Given the description of an element on the screen output the (x, y) to click on. 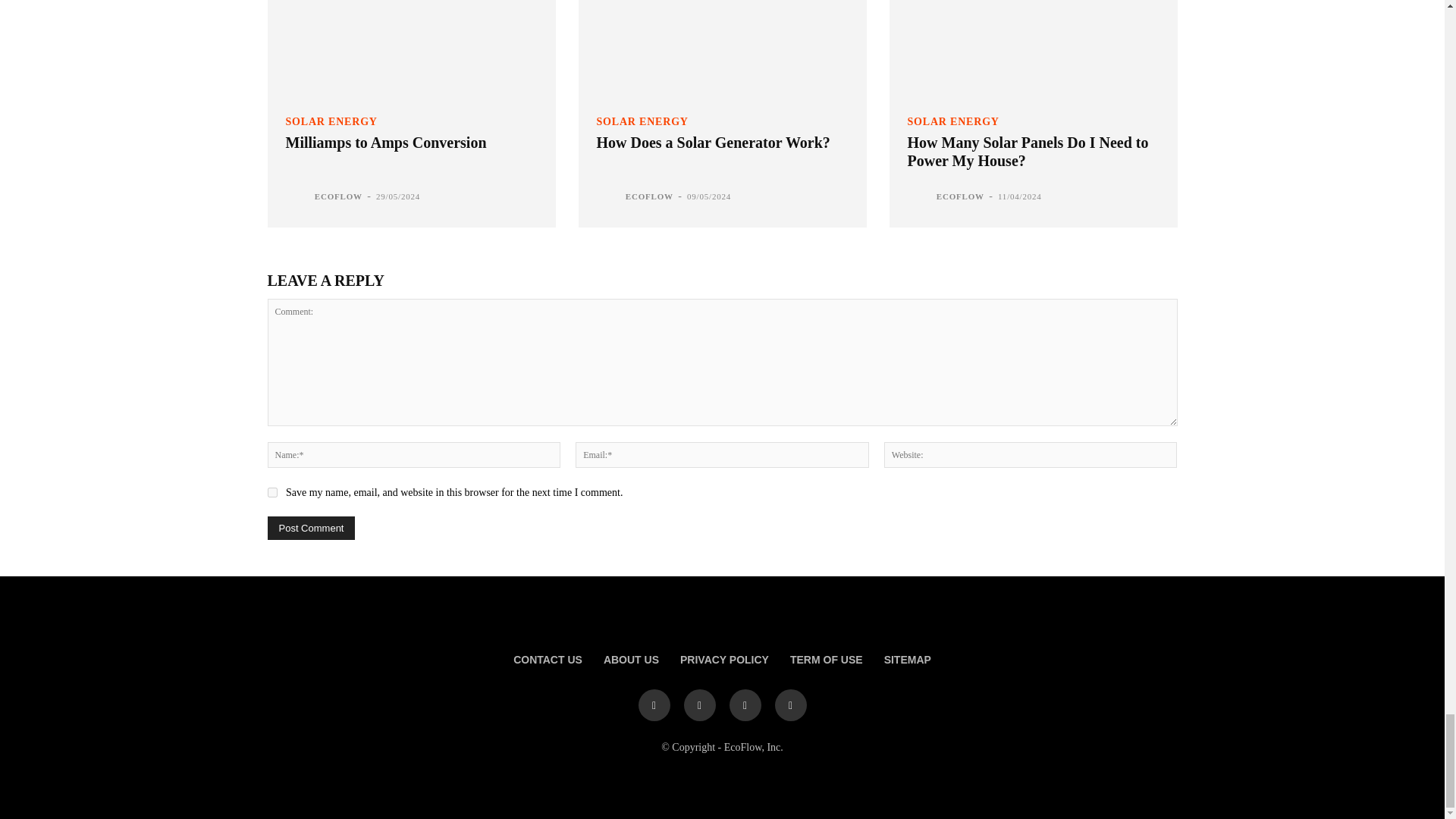
yes (271, 492)
Post Comment (310, 527)
